Given the description of an element on the screen output the (x, y) to click on. 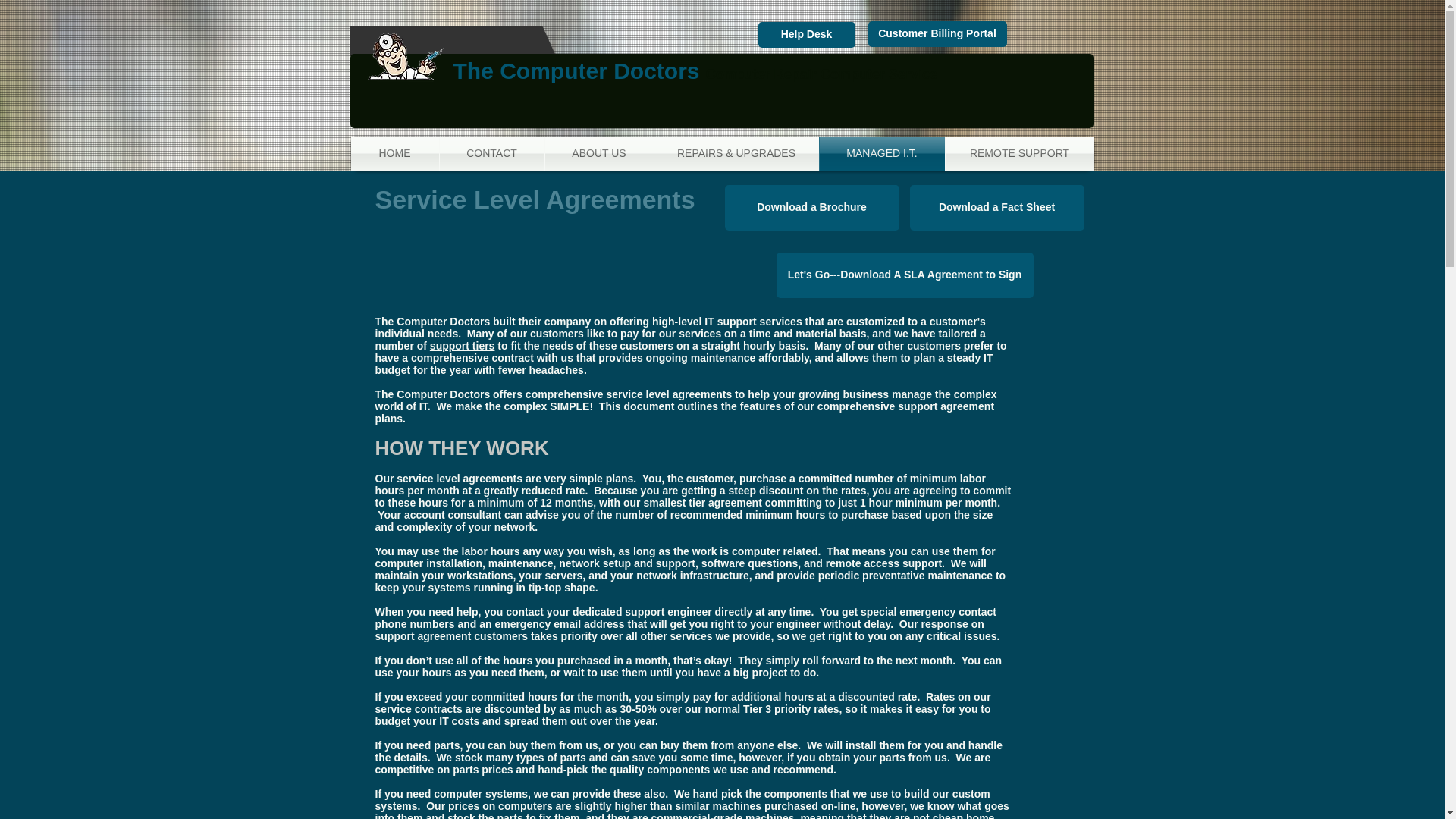
REMOTE SUPPORT (1018, 153)
support tiers (462, 345)
Customer Billing Portal (936, 33)
HOME (394, 153)
Help Desk (807, 34)
MANAGED I.T. (880, 153)
ABOUT US (598, 153)
Download a Brochure (812, 207)
Download a Fact Sheet (997, 207)
CONTACT (491, 153)
Let's Go---Download A SLA Agreement to Sign (904, 275)
